Given the description of an element on the screen output the (x, y) to click on. 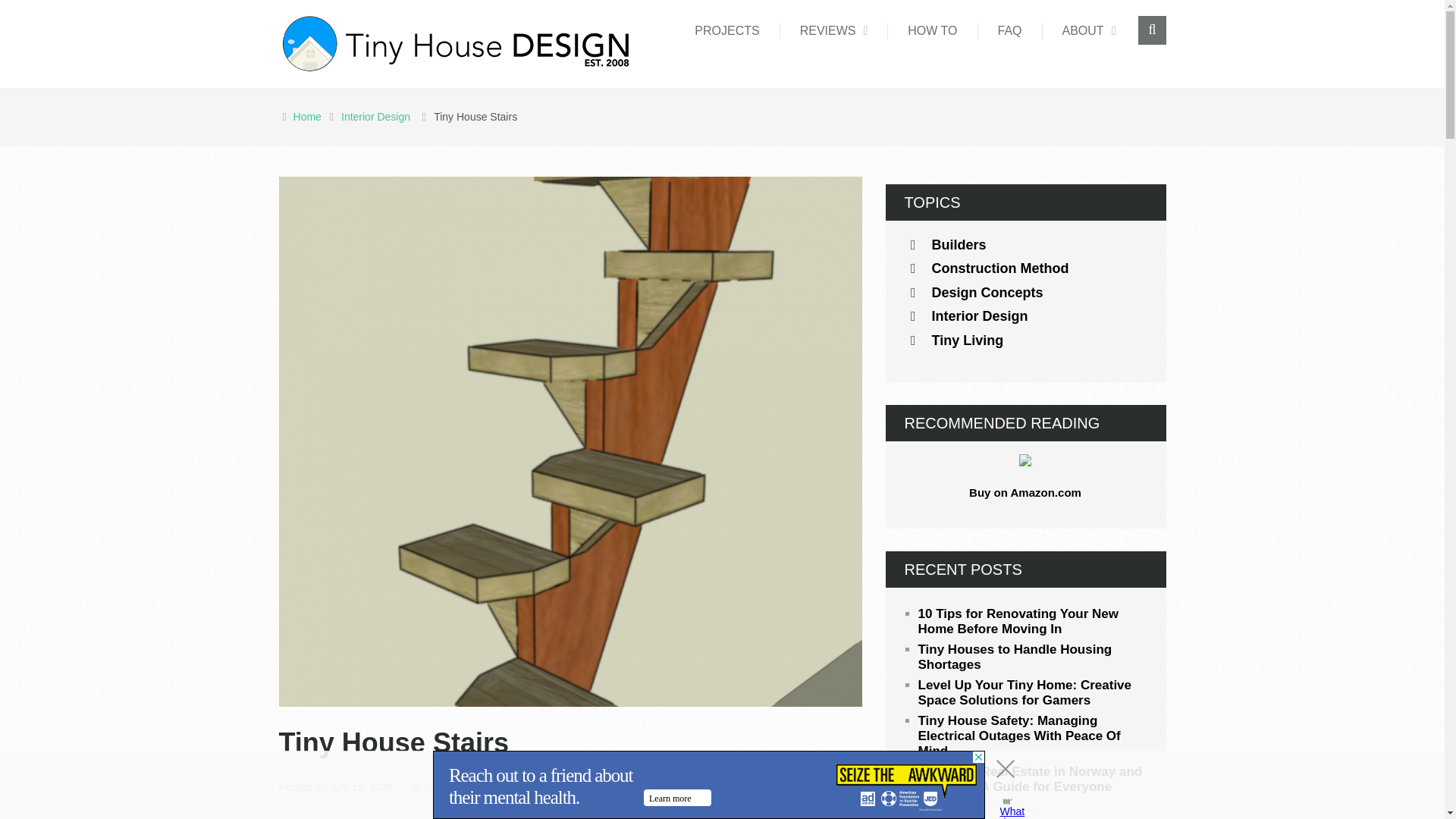
HOW TO (932, 30)
FAQ (1010, 30)
ABOUT (1088, 30)
PROJECTS (726, 30)
REVIEWS (834, 30)
Interior Design (377, 116)
Interior Design (457, 787)
View all posts in Interior Design (457, 787)
Home (310, 116)
